Given the description of an element on the screen output the (x, y) to click on. 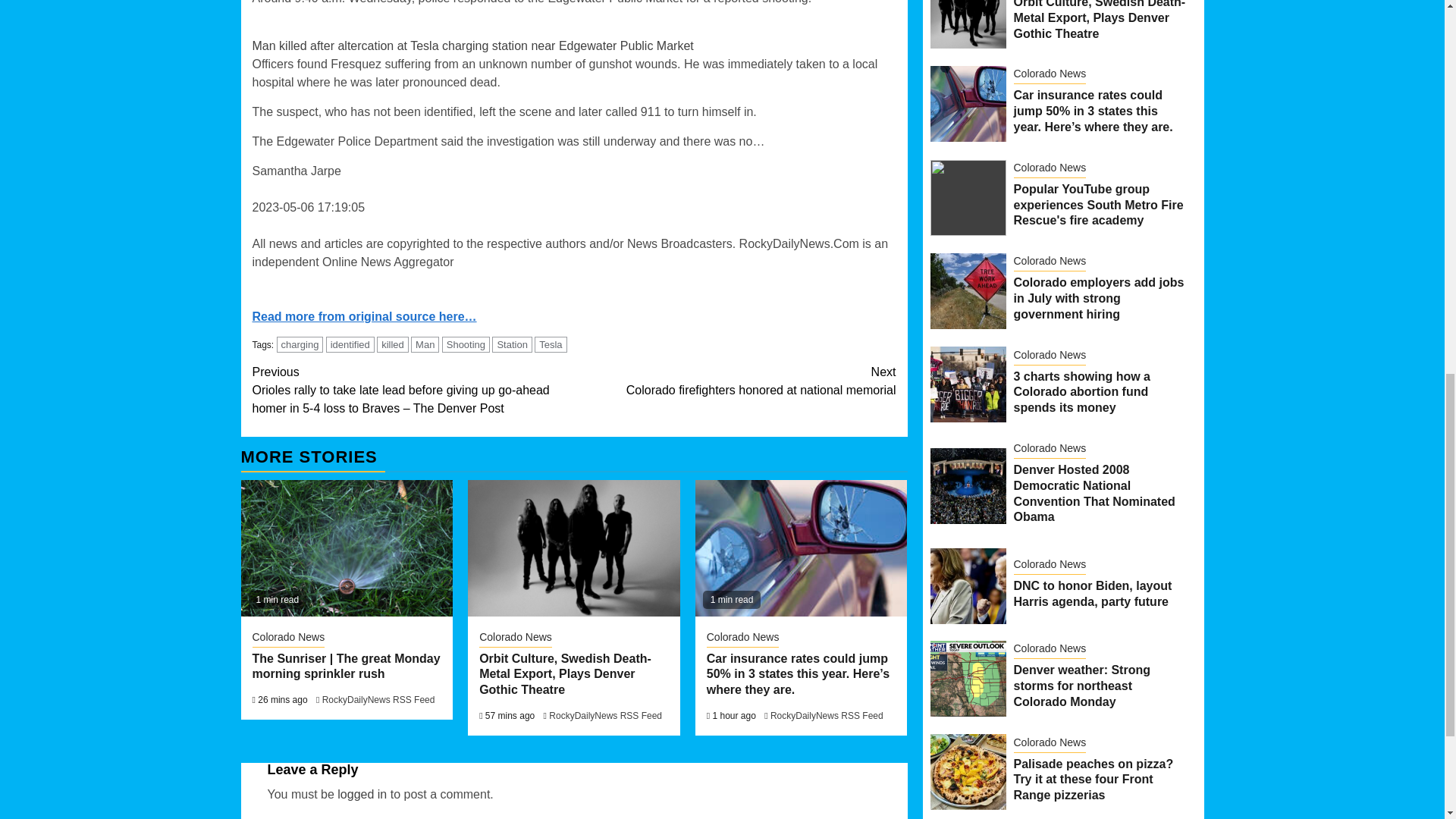
Tesla (550, 344)
Station (511, 344)
charging (299, 344)
identified (350, 344)
logged in (362, 793)
Man (424, 344)
killed (393, 344)
Colorado News (515, 638)
RockyDailyNews RSS Feed (378, 699)
